Given the description of an element on the screen output the (x, y) to click on. 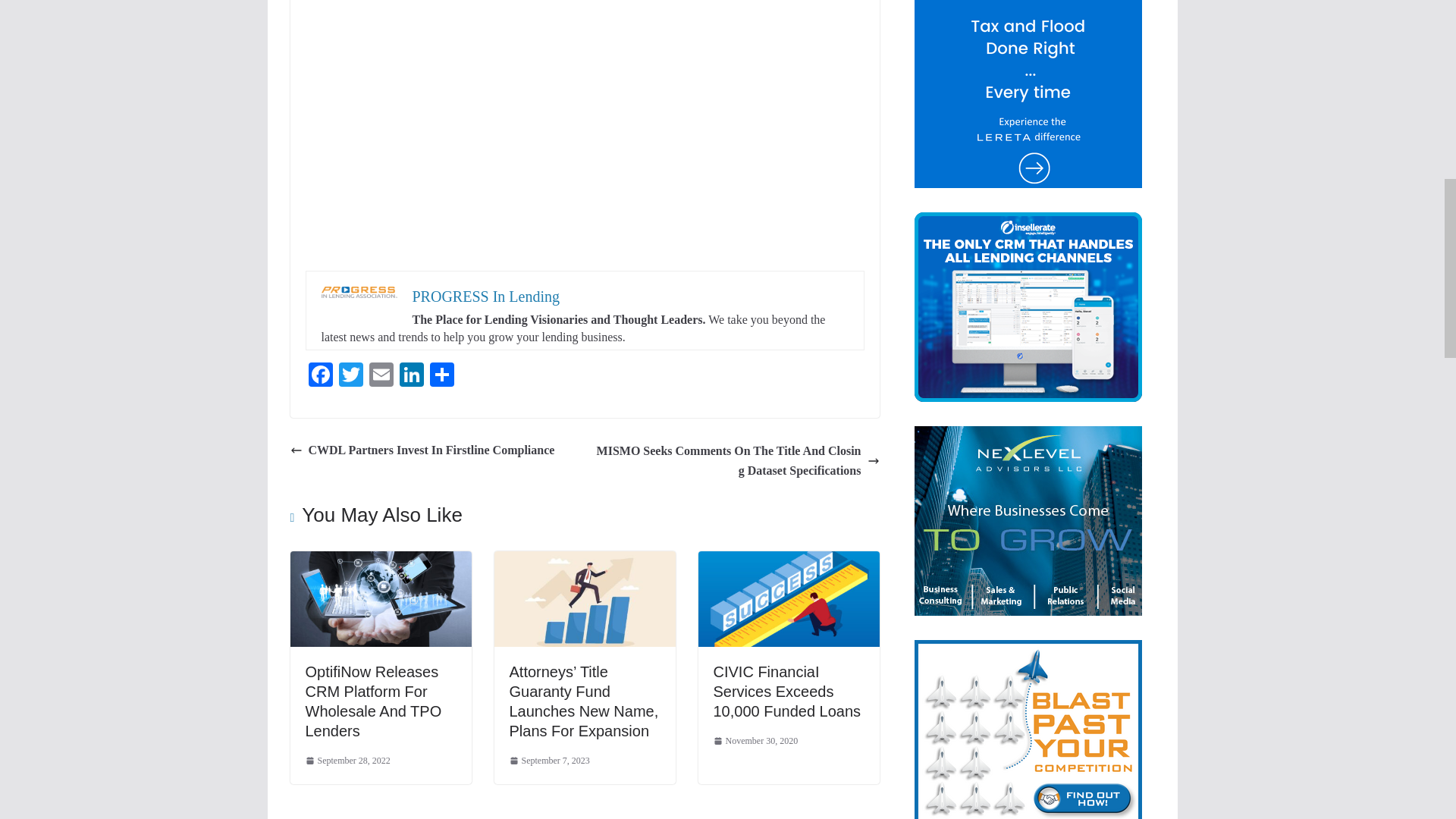
CWDL Partners Invest In Firstline Compliance (421, 450)
1:57 pm (347, 760)
LinkedIn (411, 376)
Twitter (349, 376)
Email (380, 376)
Twitter (349, 376)
LinkedIn (411, 376)
Facebook (319, 376)
PROGRESS In Lending (485, 296)
Email (380, 376)
Share (441, 376)
